Given the description of an element on the screen output the (x, y) to click on. 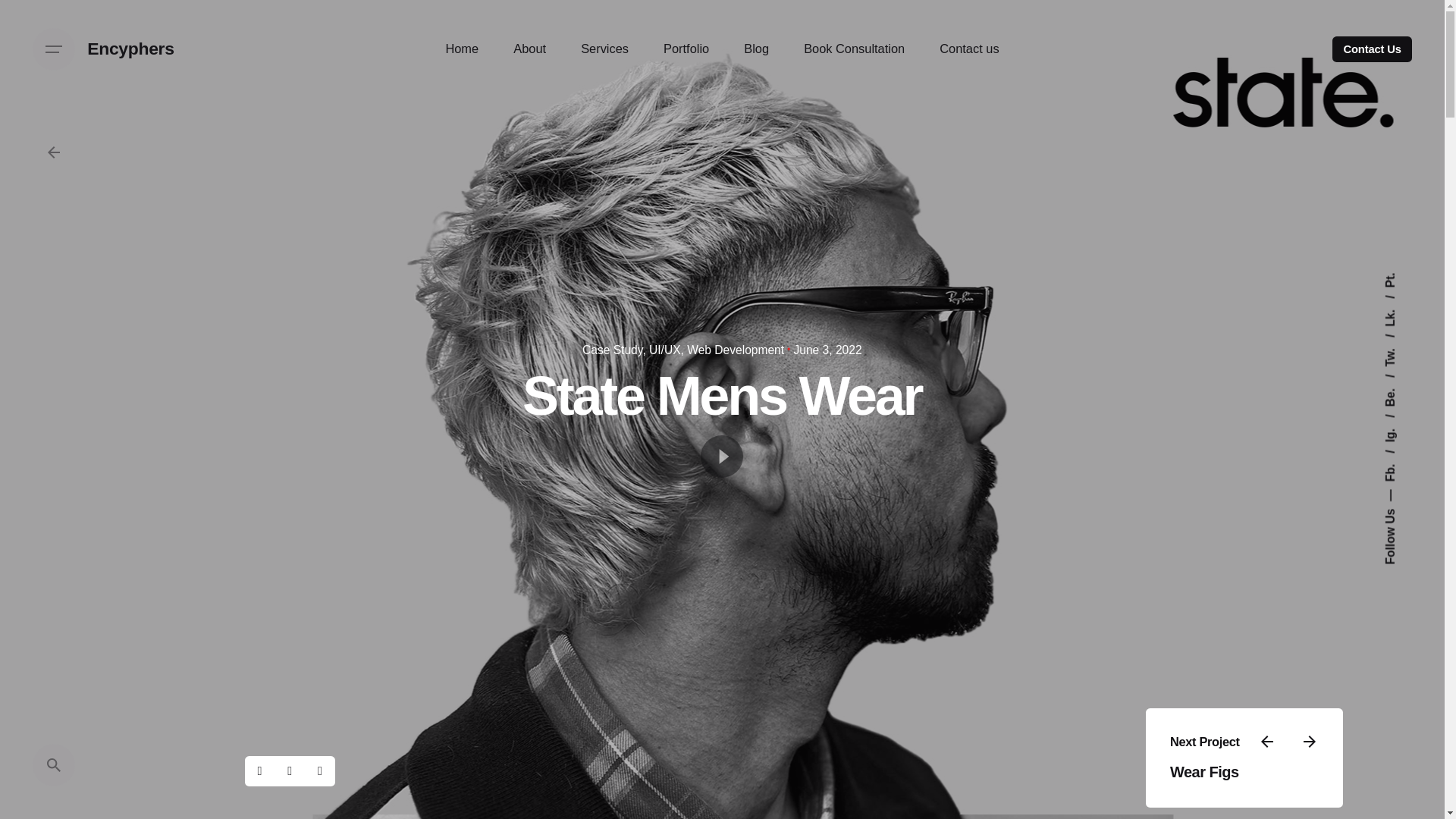
Fb. (1399, 455)
Pt. (1390, 278)
Ig. (1396, 420)
About (529, 49)
Home (462, 49)
Be. (1399, 380)
Services (604, 49)
Lk. (1398, 300)
Encyphers (130, 48)
Tw. (1399, 340)
